Given the description of an element on the screen output the (x, y) to click on. 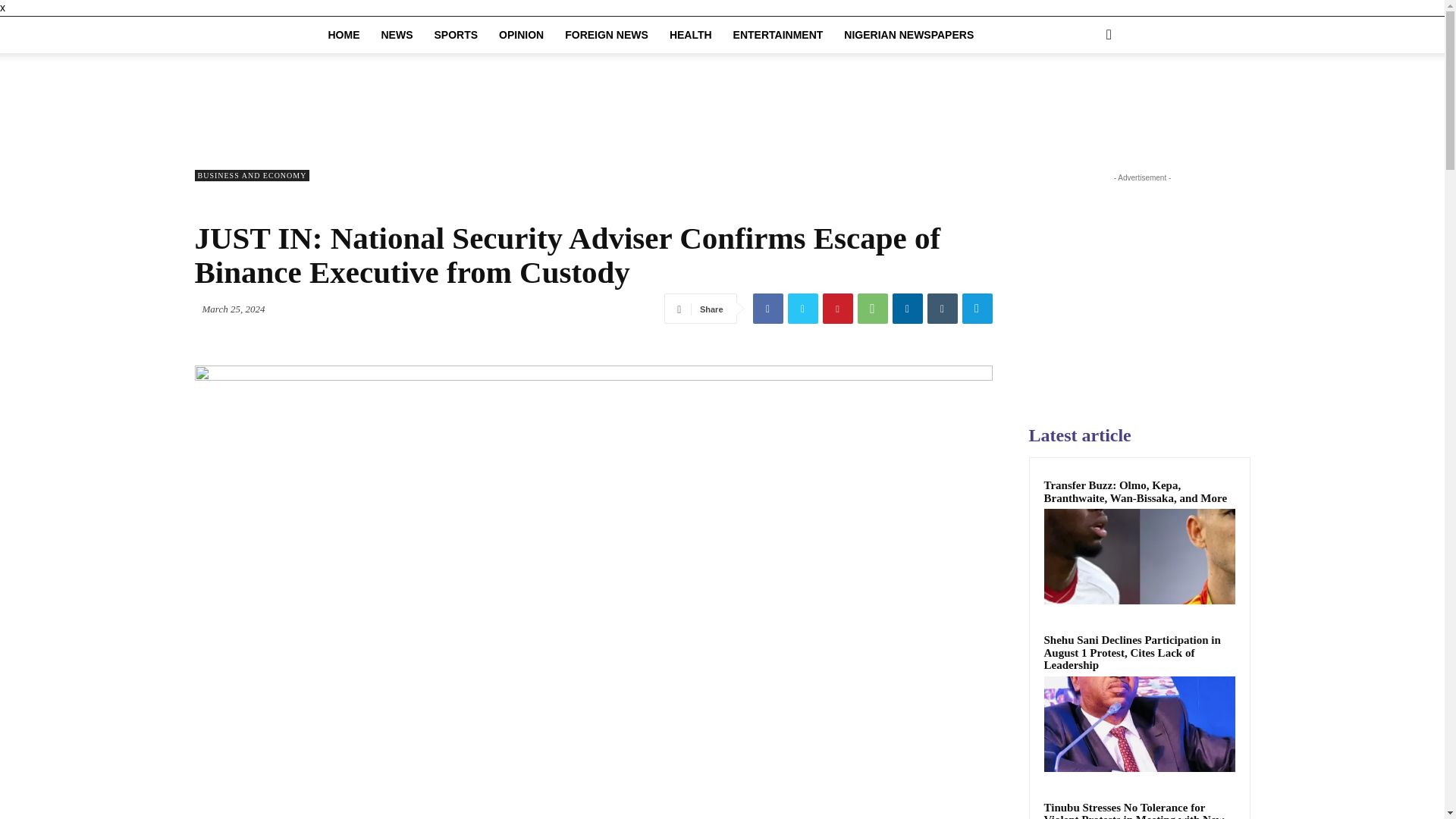
ENTERTAINMENT (778, 34)
NIGERIAN NEWSPAPERS (908, 34)
OPINION (520, 34)
HOME (343, 34)
Tumblr (941, 308)
Twitter (801, 308)
WhatsApp (871, 308)
NEWS (396, 34)
Search (1085, 95)
HEALTH (690, 34)
BUSINESS AND ECONOMY (250, 174)
FOREIGN NEWS (606, 34)
Telegram (975, 308)
SPORTS (455, 34)
